Given the description of an element on the screen output the (x, y) to click on. 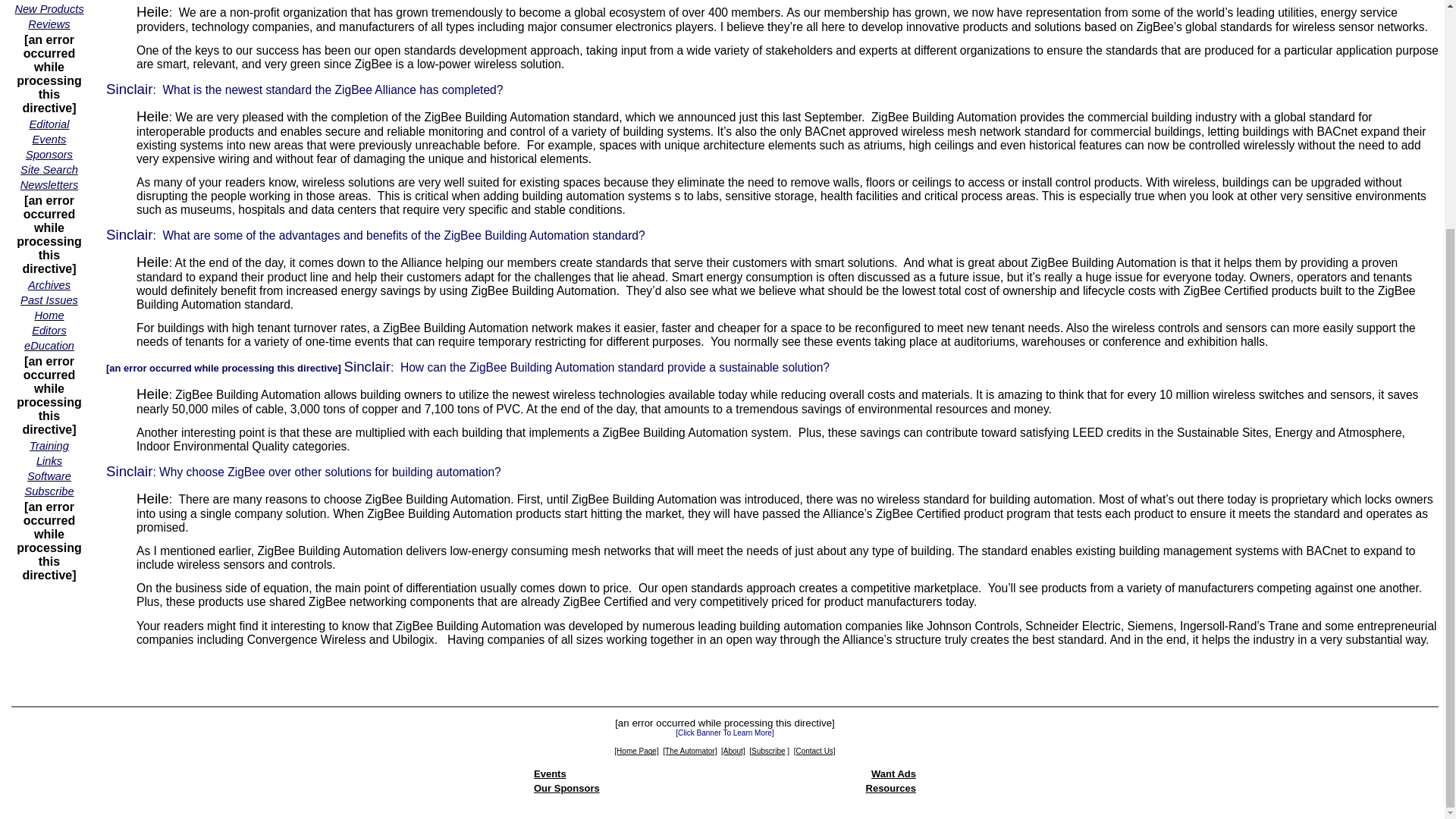
Events (49, 138)
Past Issues (49, 299)
Reviews (48, 23)
Archives (48, 284)
Our Sponsors (566, 787)
Subscribe (49, 490)
Links (49, 460)
New Products (48, 8)
Training (48, 445)
Events (550, 773)
